Given the description of an element on the screen output the (x, y) to click on. 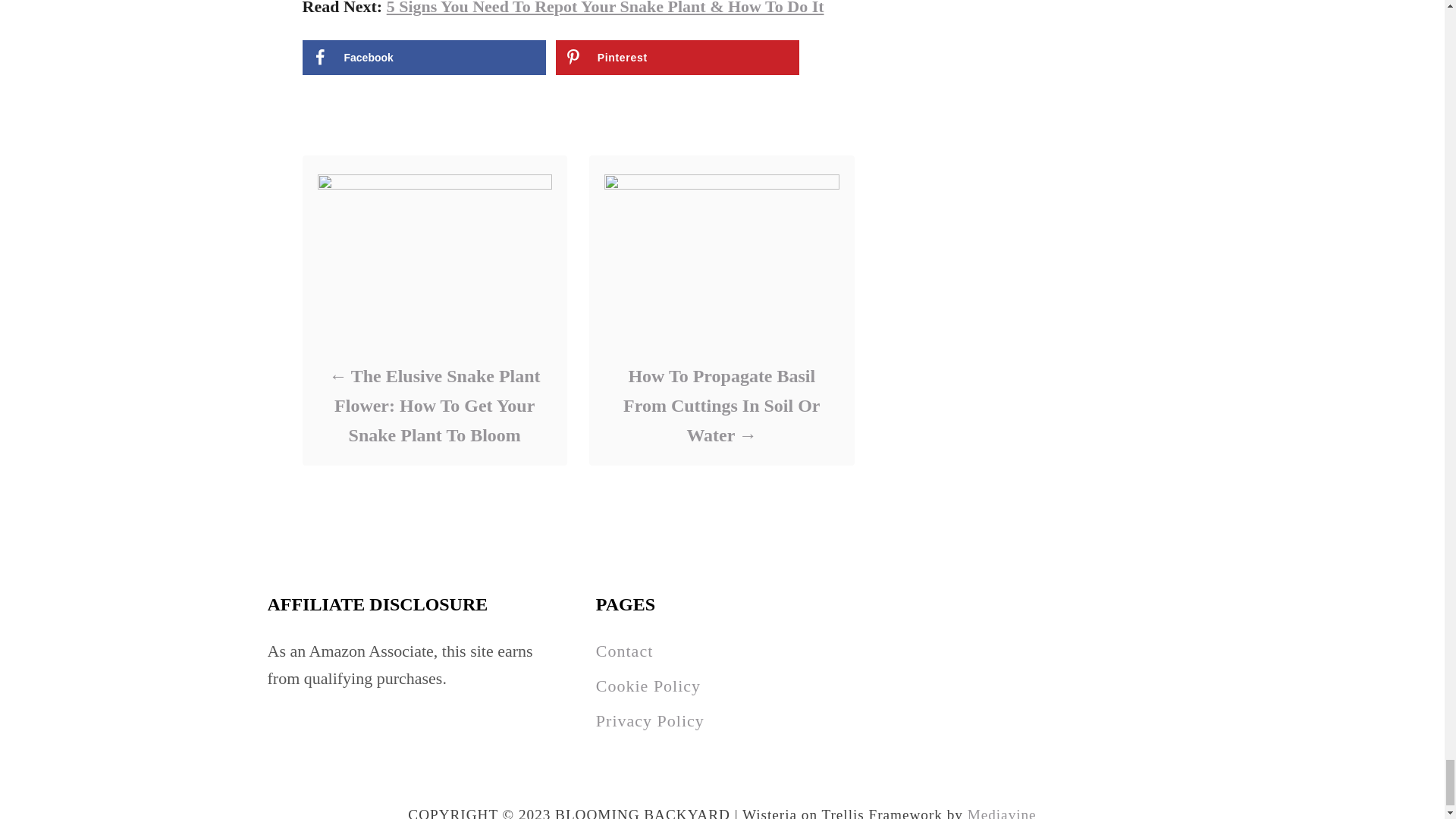
Save to Pinterest (677, 57)
Share on Facebook (422, 57)
